Given the description of an element on the screen output the (x, y) to click on. 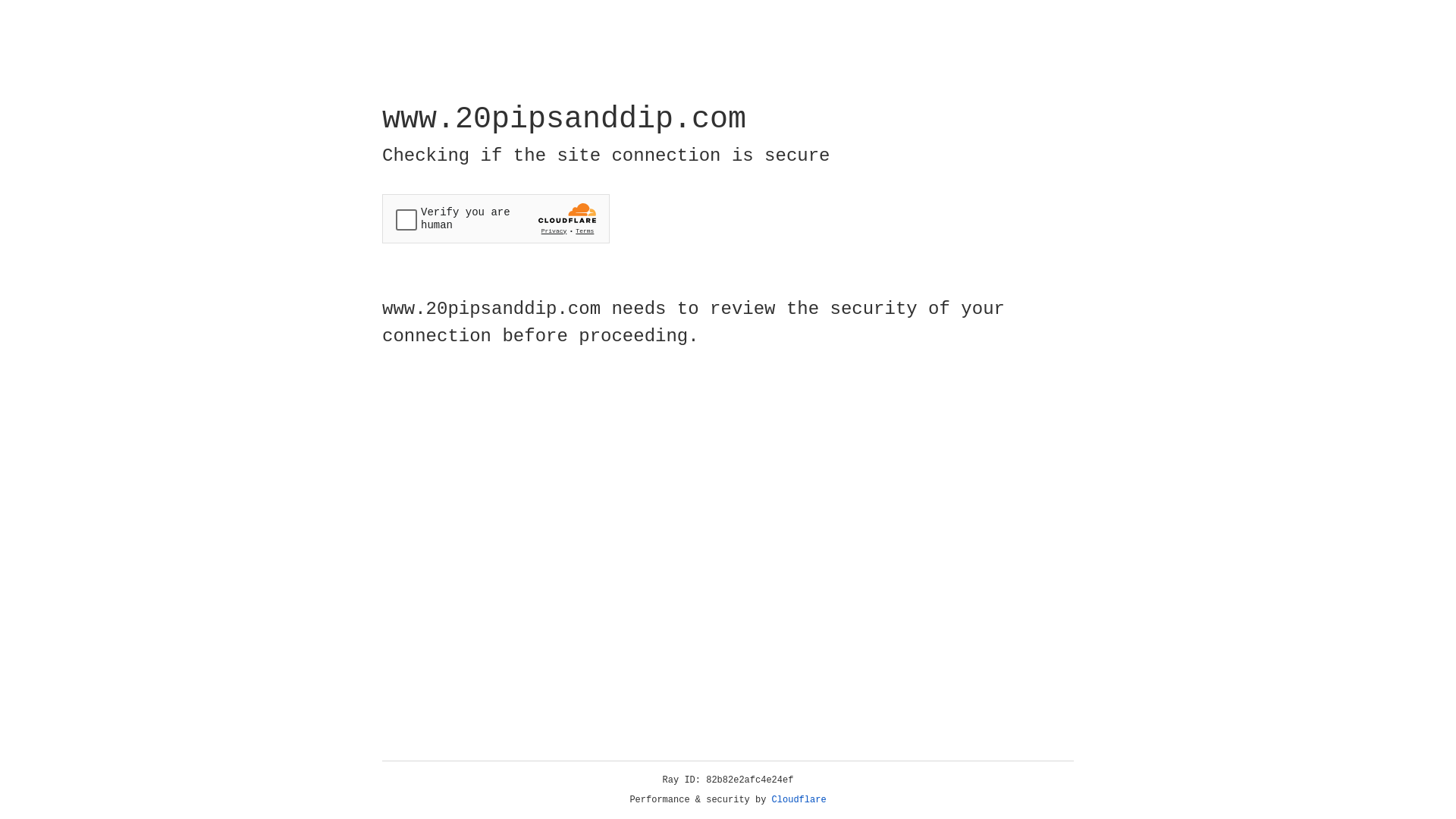
Cloudflare Element type: text (798, 799)
Widget containing a Cloudflare security challenge Element type: hover (495, 218)
